Given the description of an element on the screen output the (x, y) to click on. 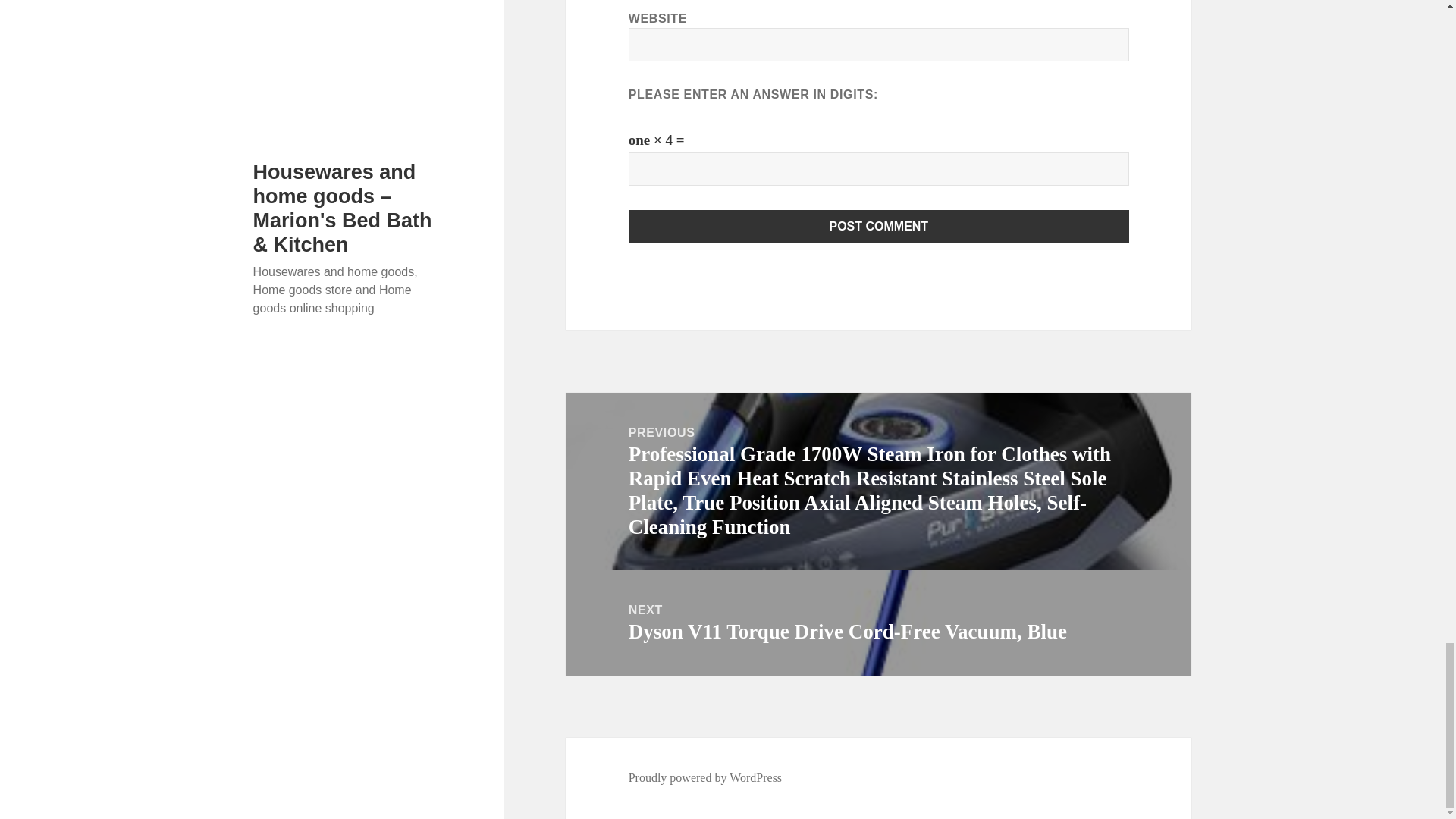
Post Comment (878, 226)
Proudly powered by WordPress (704, 777)
Post Comment (878, 226)
